Given the description of an element on the screen output the (x, y) to click on. 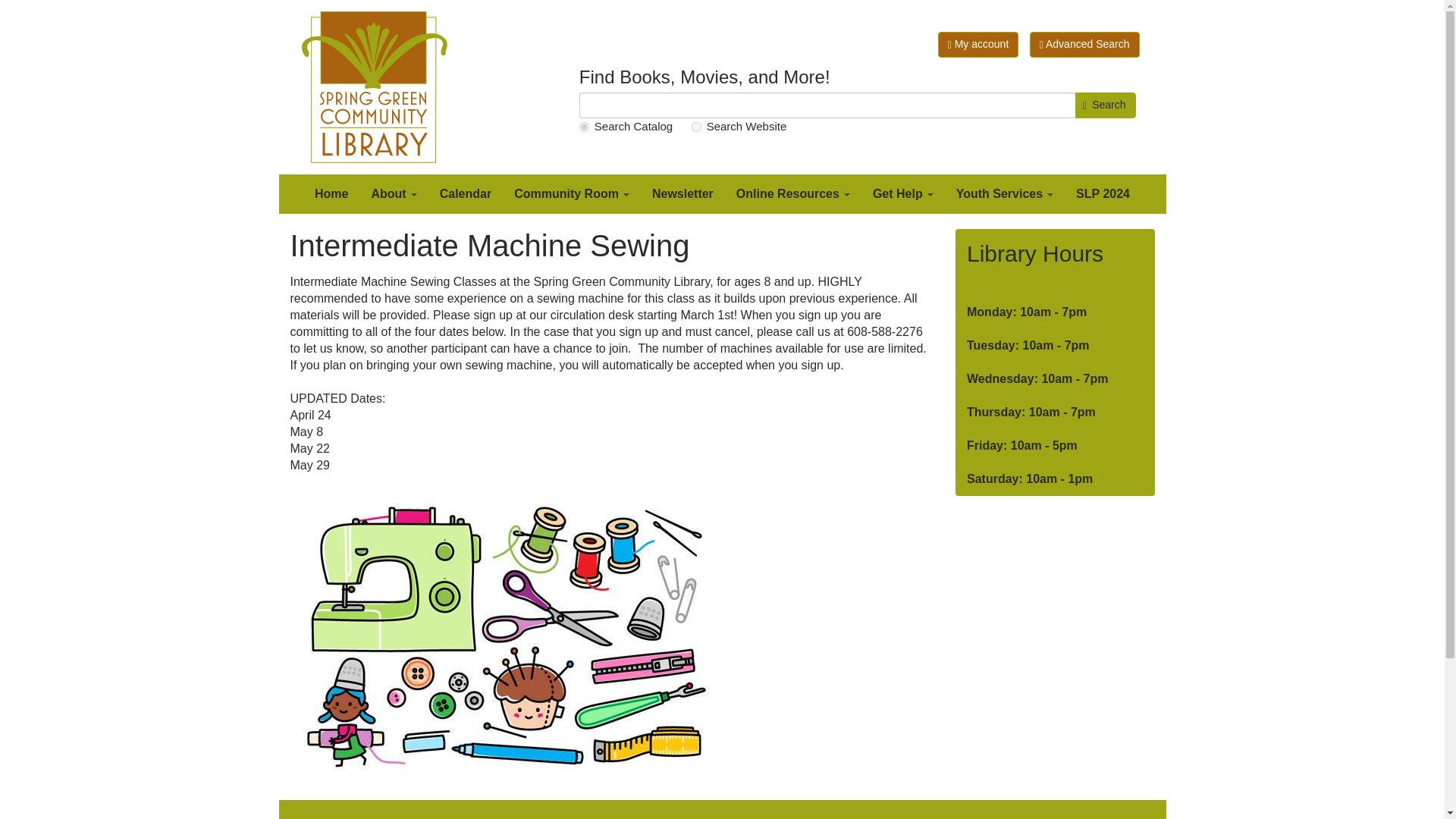
Search (1105, 104)
Home (379, 86)
Advanced Search (1084, 44)
Enter the terms you wish to search for. (827, 104)
My account (978, 44)
Calendar (465, 193)
Home (330, 193)
Newsletter (682, 193)
SLP 2024 (1102, 193)
